Given the description of an element on the screen output the (x, y) to click on. 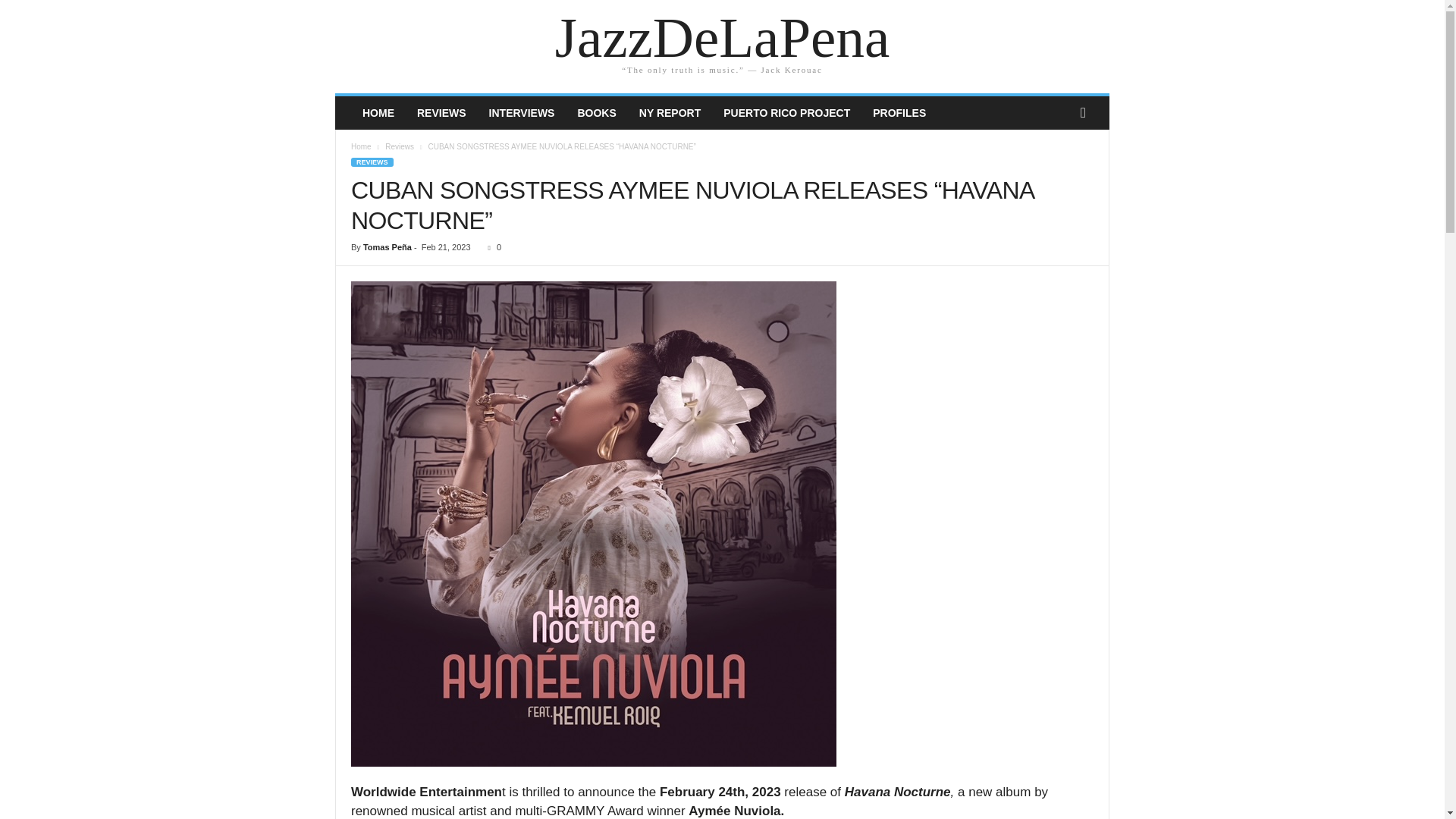
PROFILES (899, 112)
INTERVIEWS (521, 112)
REVIEWS (441, 112)
NY REPORT (669, 112)
JazzDeLaPena (721, 38)
Reviews (399, 146)
View all posts in Reviews (399, 146)
PUERTO RICO PROJECT (786, 112)
0 (490, 246)
Home (360, 146)
REVIEWS (371, 162)
BOOKS (596, 112)
Home (378, 112)
HOME (378, 112)
